Given the description of an element on the screen output the (x, y) to click on. 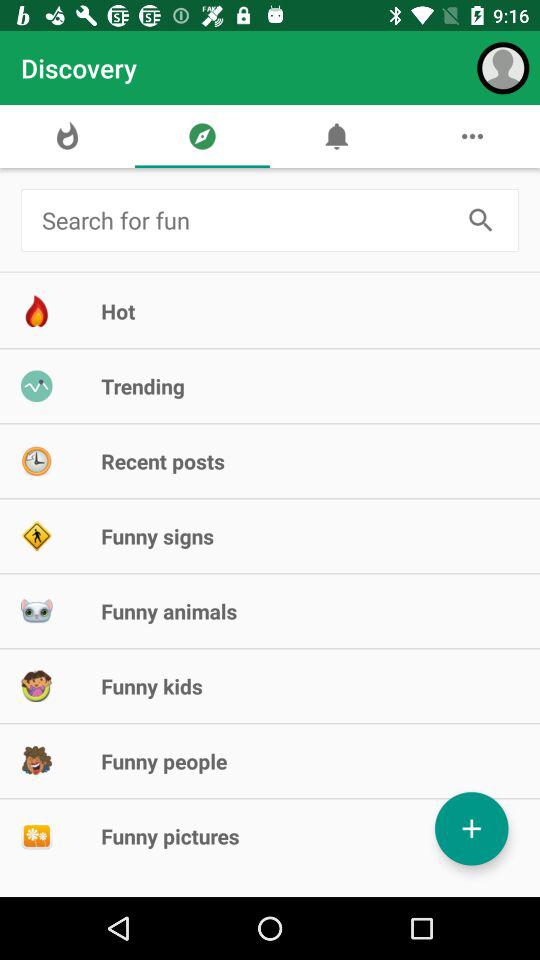
press the item below funny people (471, 828)
